Given the description of an element on the screen output the (x, y) to click on. 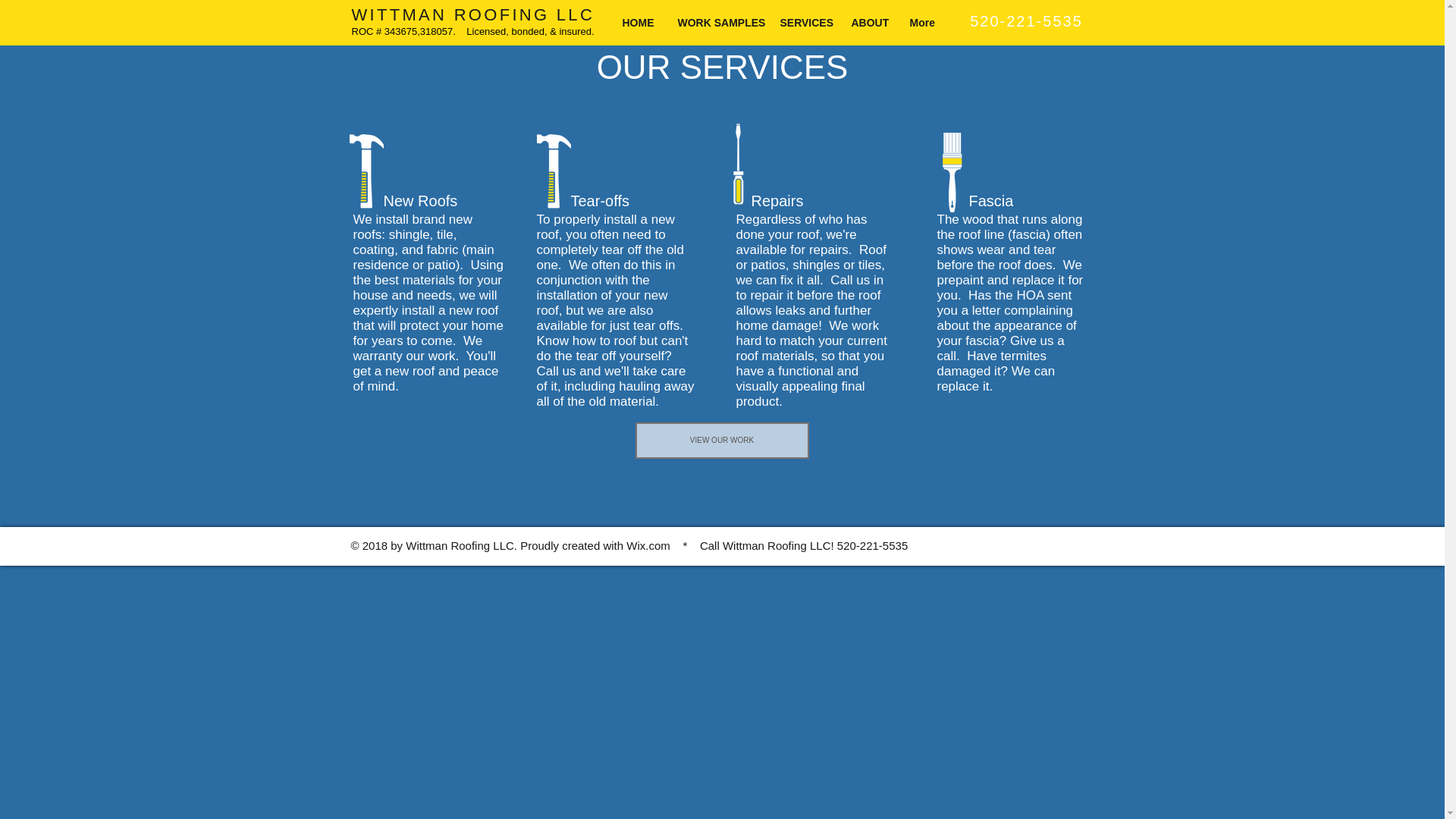
HOME (638, 23)
VIEW OUR WORK (721, 440)
ABOUT (869, 23)
WORK SAMPLES (716, 23)
SERVICES (804, 23)
WITTMAN ROOFING LLC (473, 14)
